Given the description of an element on the screen output the (x, y) to click on. 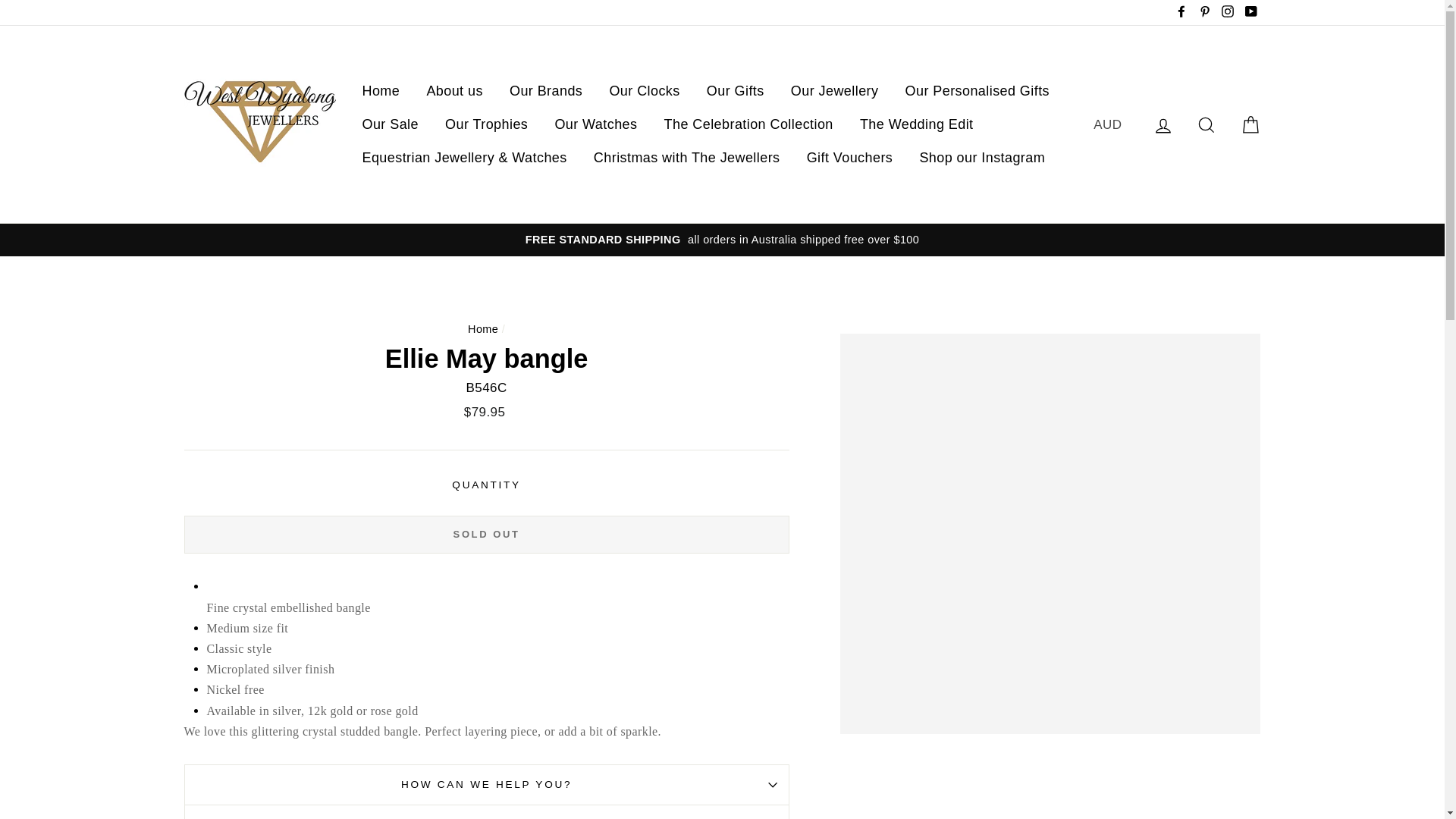
West Wyalong Jewellers on Pinterest (1204, 12)
West Wyalong Jewellers on Facebook (1181, 12)
Back to the frontpage (482, 328)
West Wyalong Jewellers on YouTube (1250, 12)
West Wyalong Jewellers on Instagram (1227, 12)
